Given the description of an element on the screen output the (x, y) to click on. 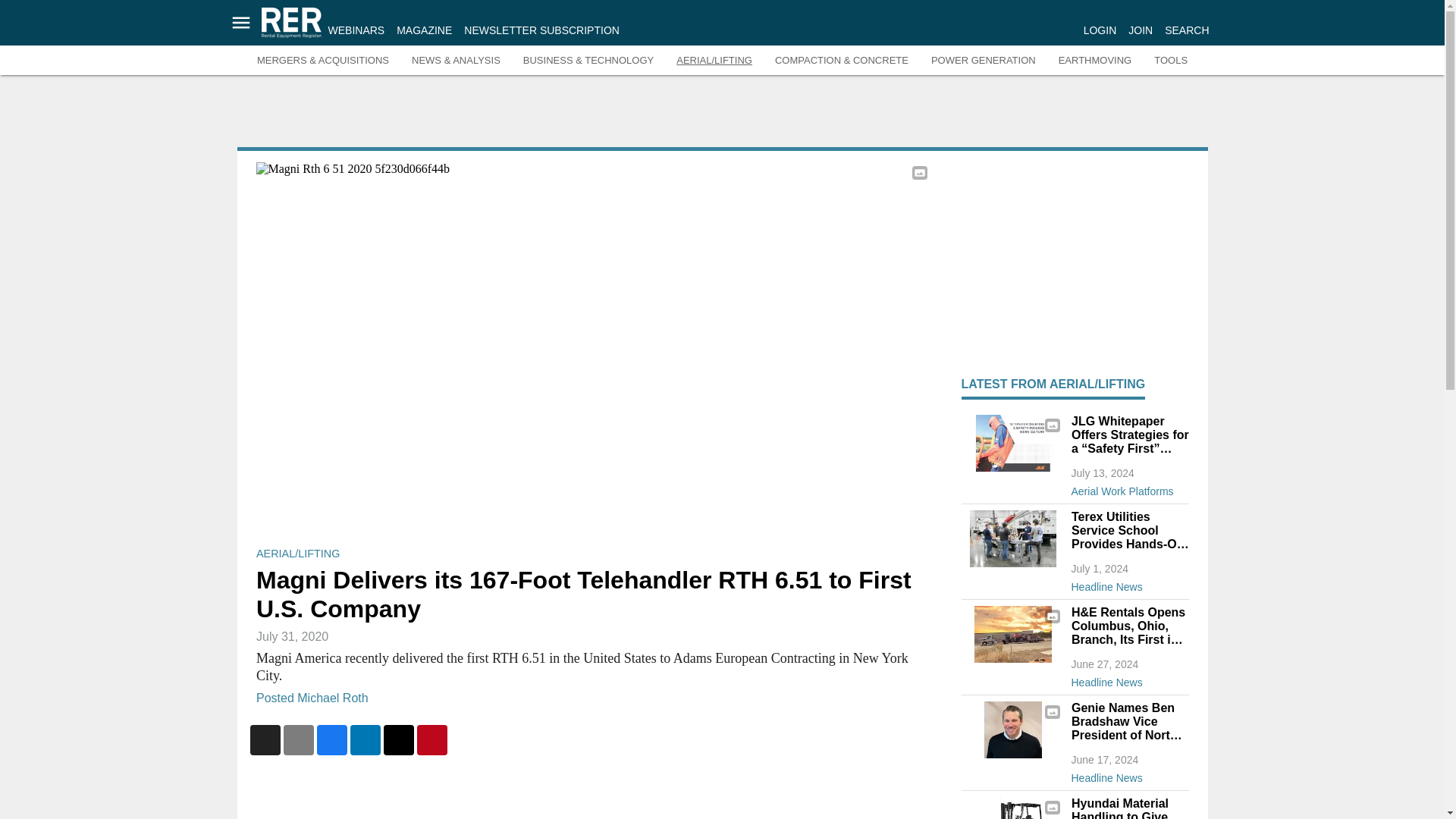
EARTHMOVING (1095, 60)
TOOLS (1171, 60)
SEARCH (1186, 30)
WEBINARS (355, 30)
NEWSLETTER SUBSCRIPTION (542, 30)
Posted Michael Roth (312, 697)
JOIN (1140, 30)
LOGIN (1099, 30)
POWER GENERATION (983, 60)
MAGAZINE (423, 30)
